Given the description of an element on the screen output the (x, y) to click on. 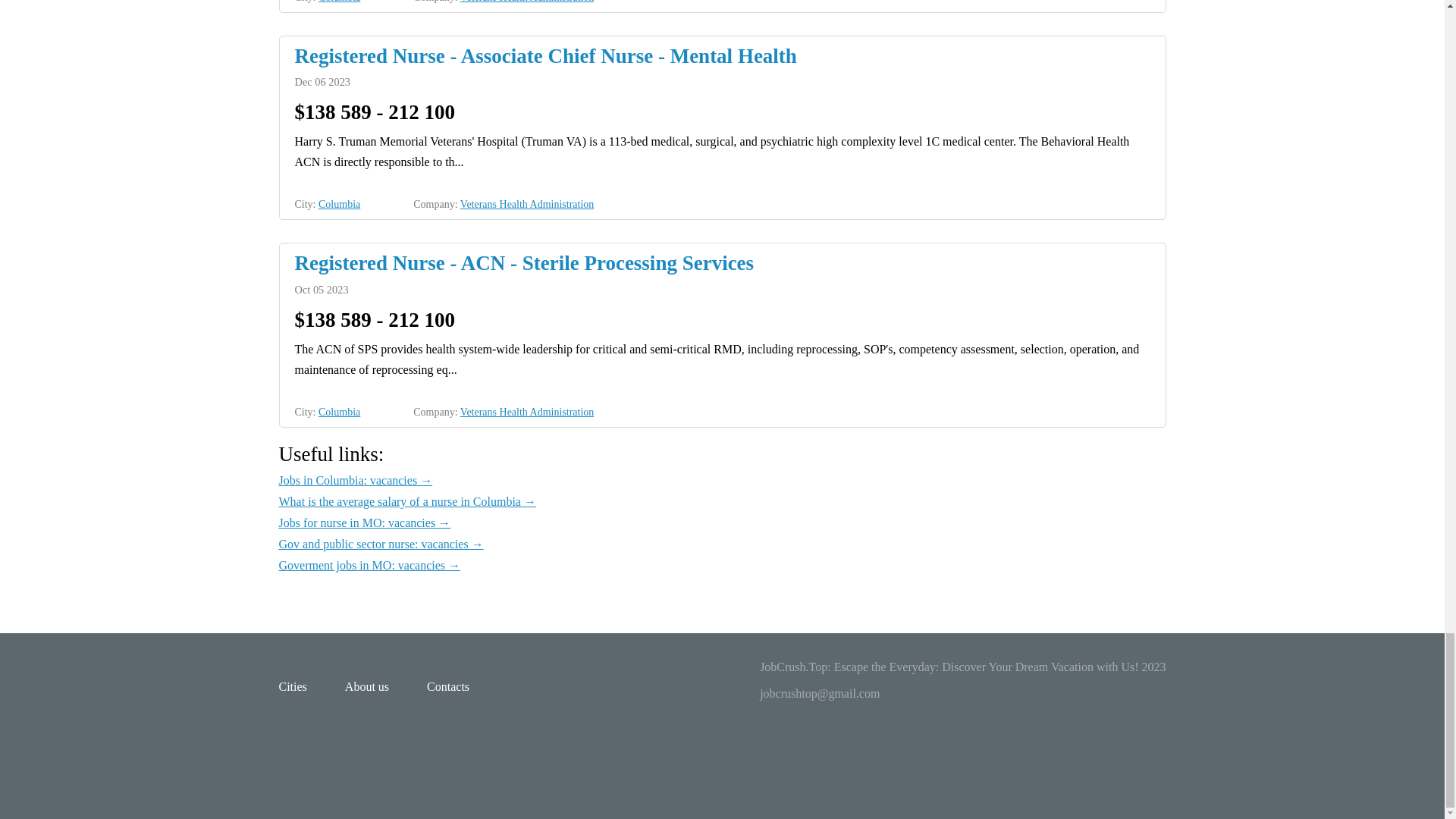
Columbia (338, 1)
Registered Nurse - Associate Chief Nurse - Mental Health (722, 55)
About us (366, 686)
Columbia (338, 411)
Veterans Health Administration (527, 1)
Cities (293, 686)
Columbia (338, 204)
Registered Nurse - ACN - Sterile Processing Services (722, 262)
Veterans Health Administration (527, 411)
Veterans Health Administration (527, 204)
